Given the description of an element on the screen output the (x, y) to click on. 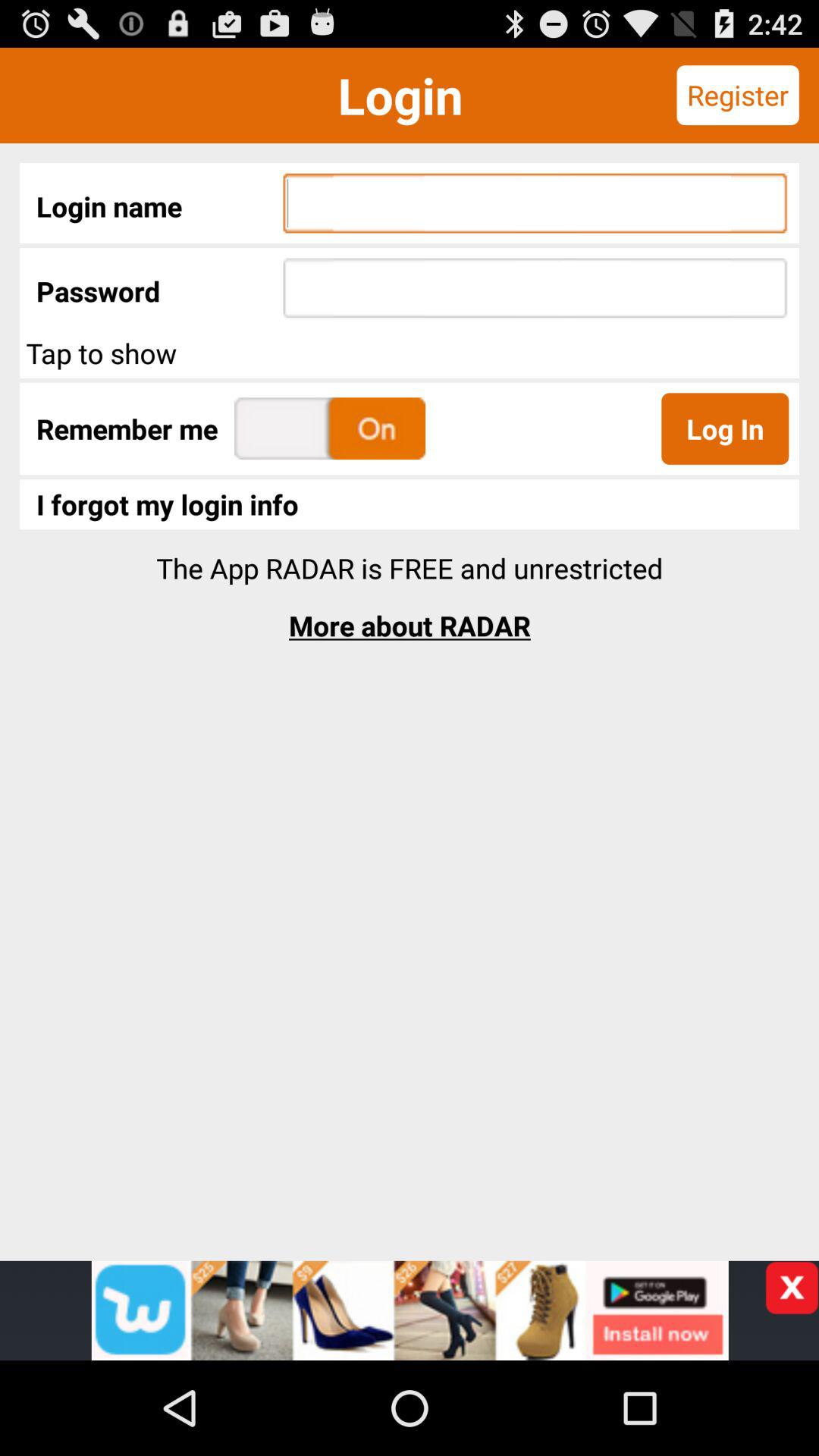
type your login name (535, 203)
